Given the description of an element on the screen output the (x, y) to click on. 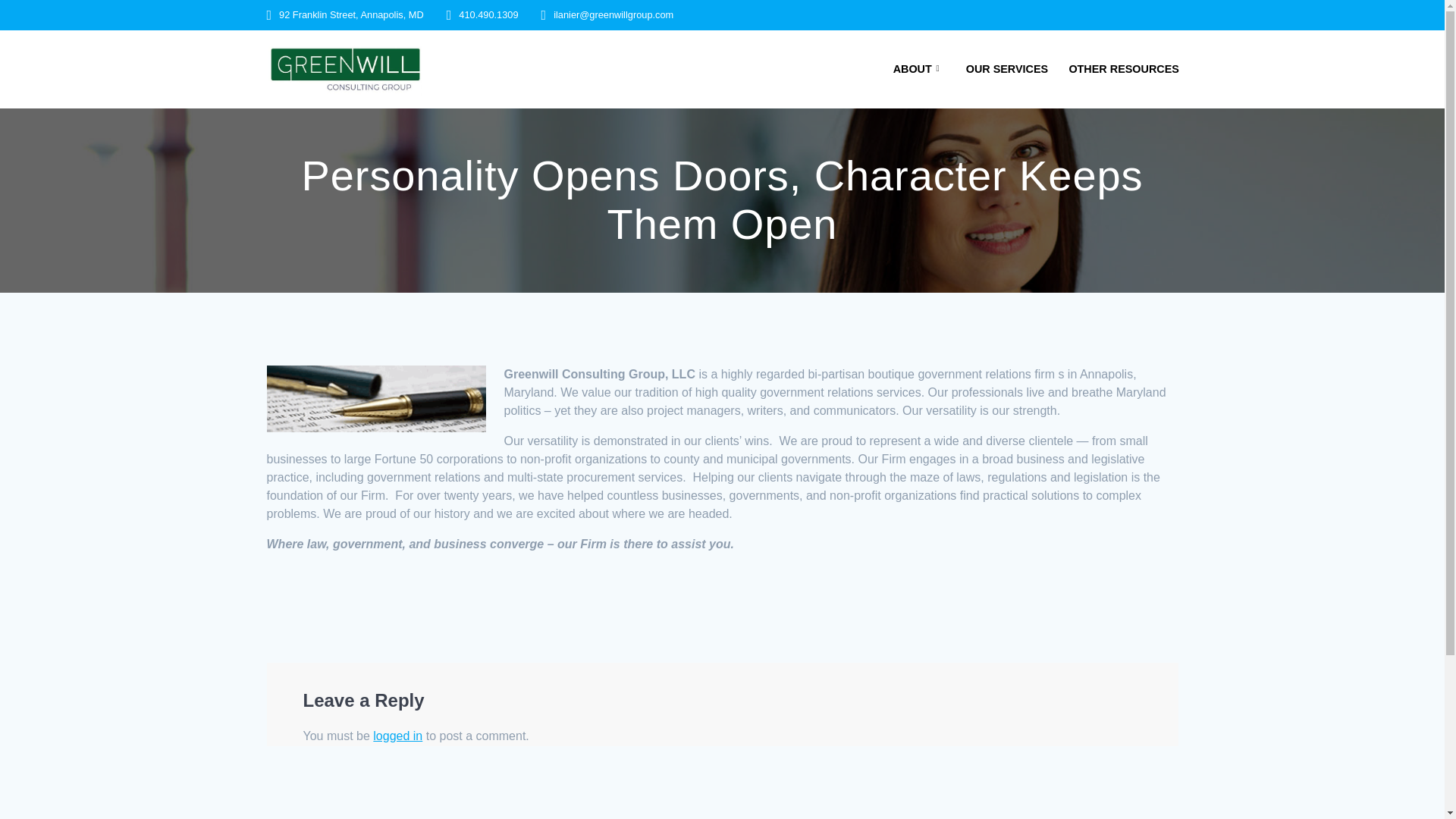
OTHER RESOURCES (1123, 68)
logged in (397, 735)
ABOUT (918, 68)
OUR SERVICES (1007, 68)
